Given the description of an element on the screen output the (x, y) to click on. 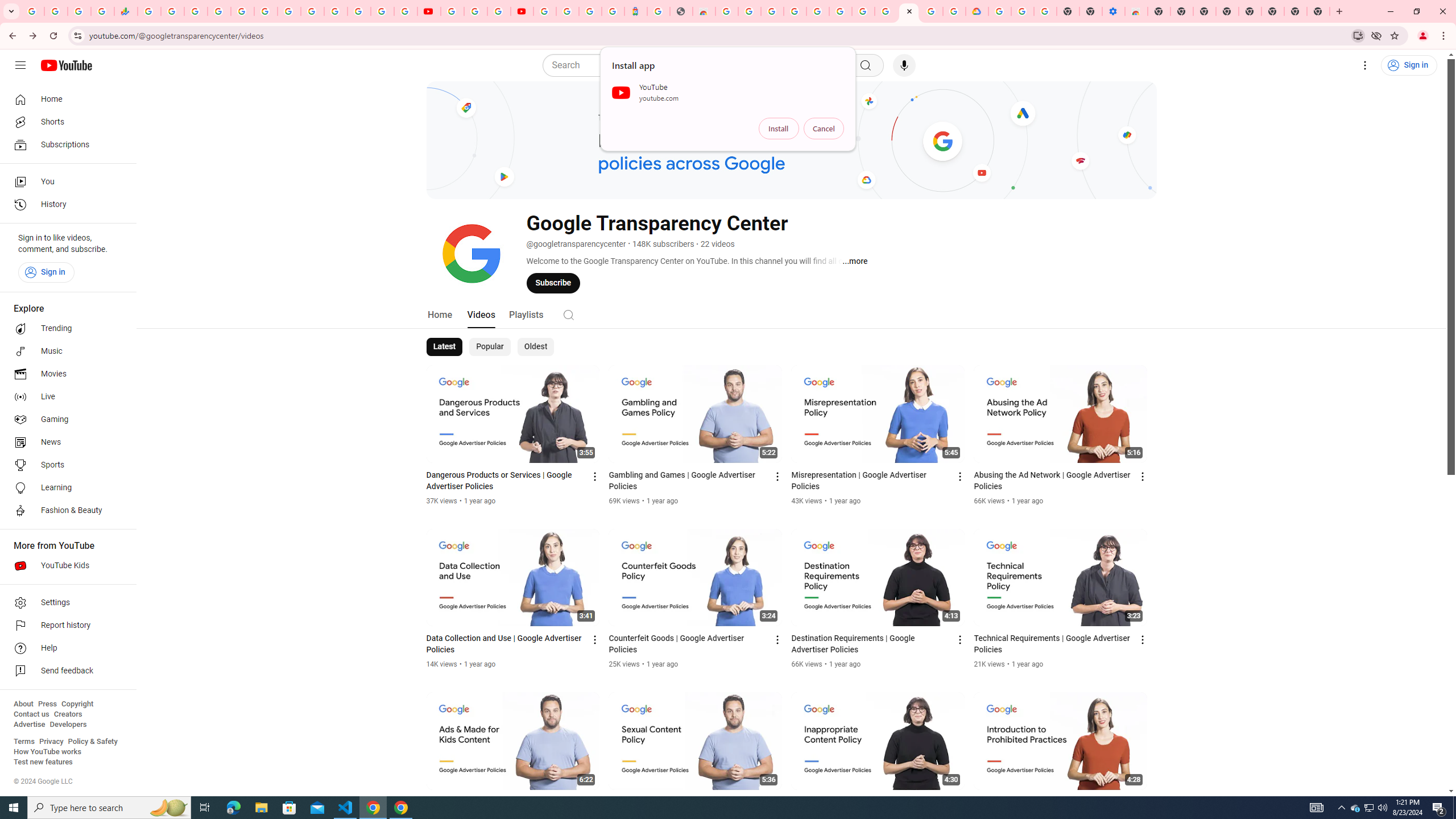
YouTube (312, 11)
Sign in - Google Accounts (545, 11)
Report history (64, 625)
How YouTube works (47, 751)
About (23, 703)
Live (64, 396)
Latest (444, 346)
Sign in - Google Accounts (817, 11)
Home (440, 314)
